Given the description of an element on the screen output the (x, y) to click on. 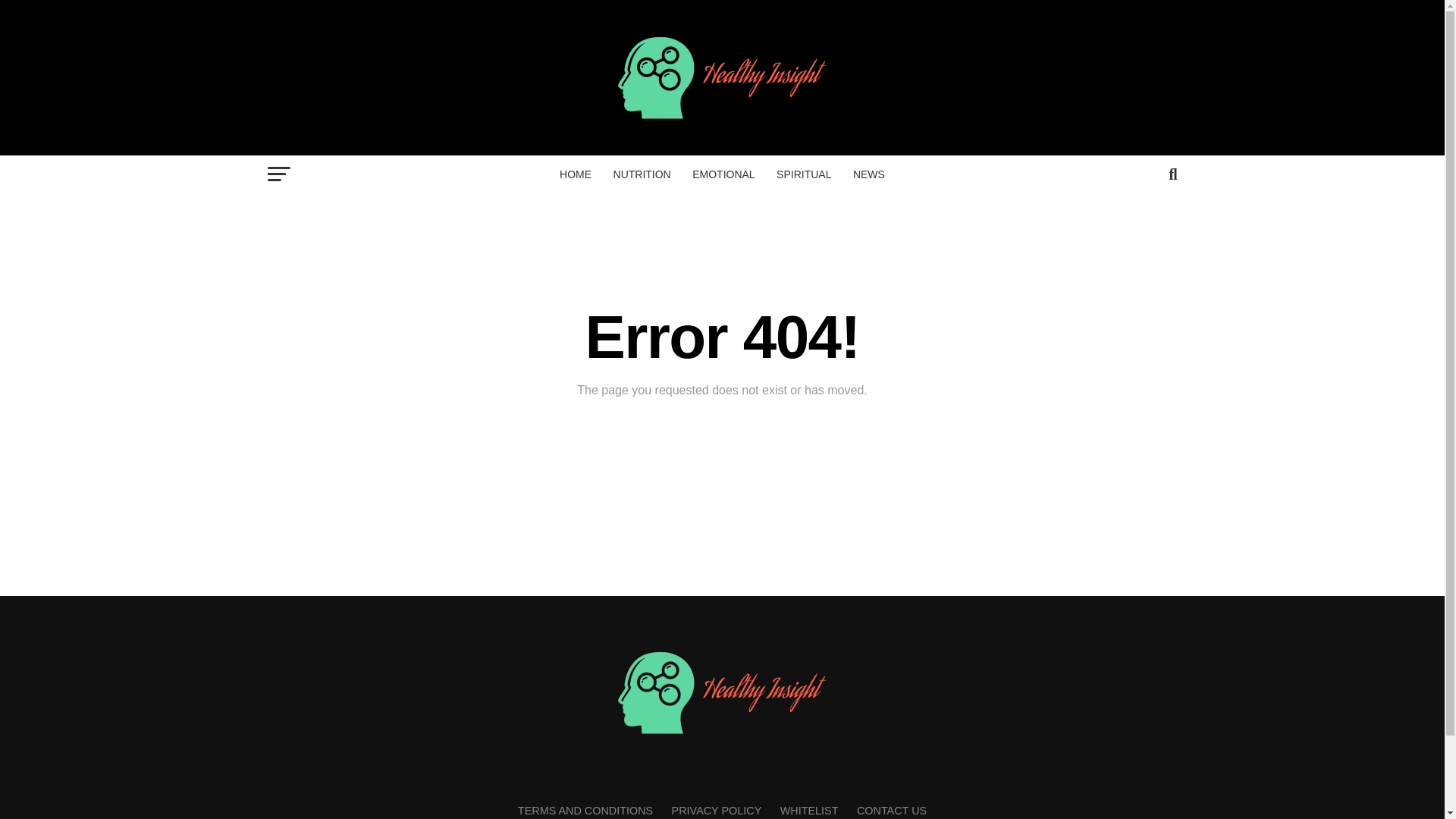
SPIRITUAL (803, 174)
HOME (574, 174)
NUTRITION (641, 174)
PRIVACY POLICY (716, 810)
NEWS (868, 174)
WHITELIST (809, 810)
CONTACT US (891, 810)
TERMS AND CONDITIONS (585, 810)
EMOTIONAL (722, 174)
